Given the description of an element on the screen output the (x, y) to click on. 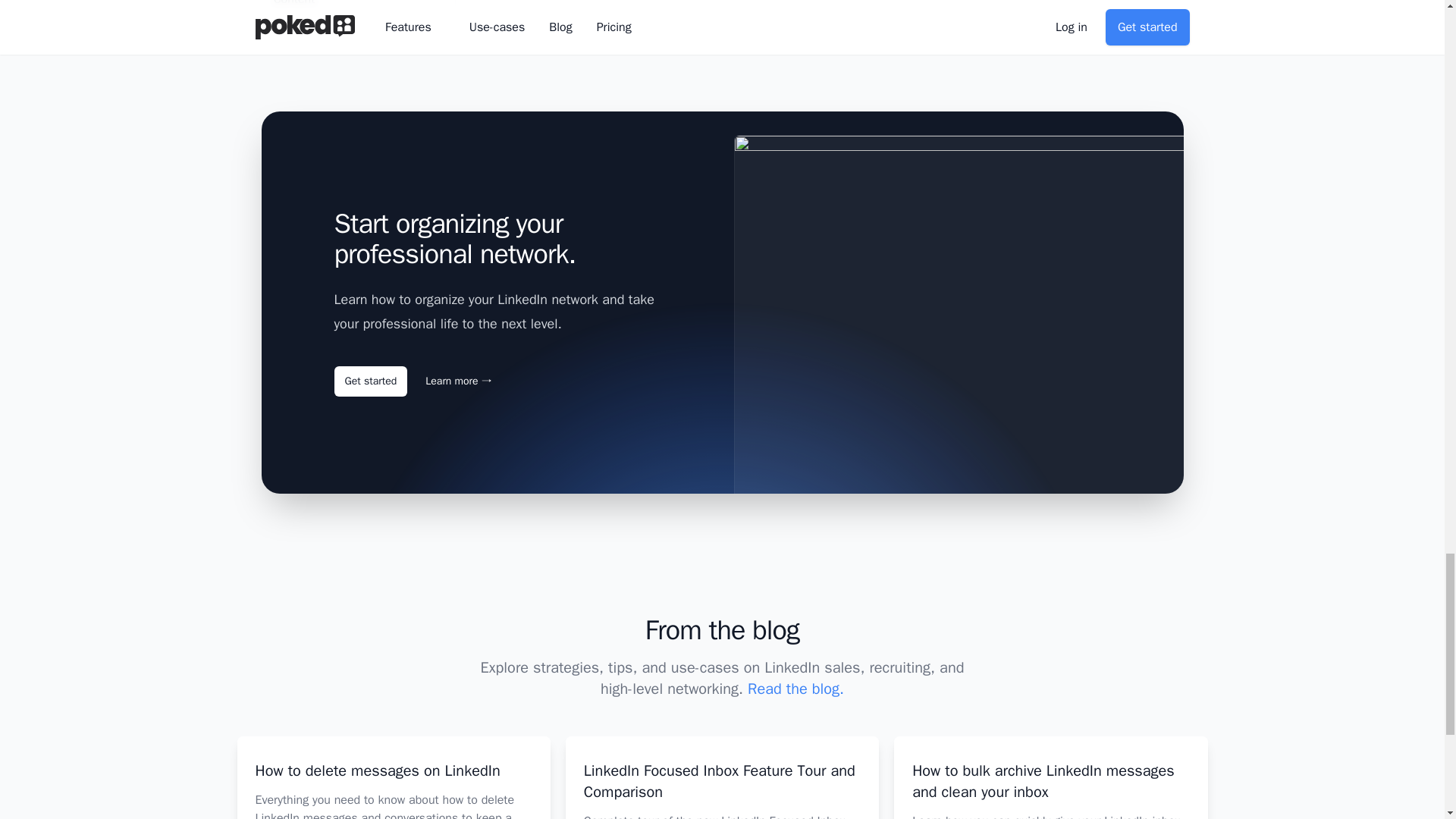
Read the blog. (796, 688)
Get started (370, 381)
